Given the description of an element on the screen output the (x, y) to click on. 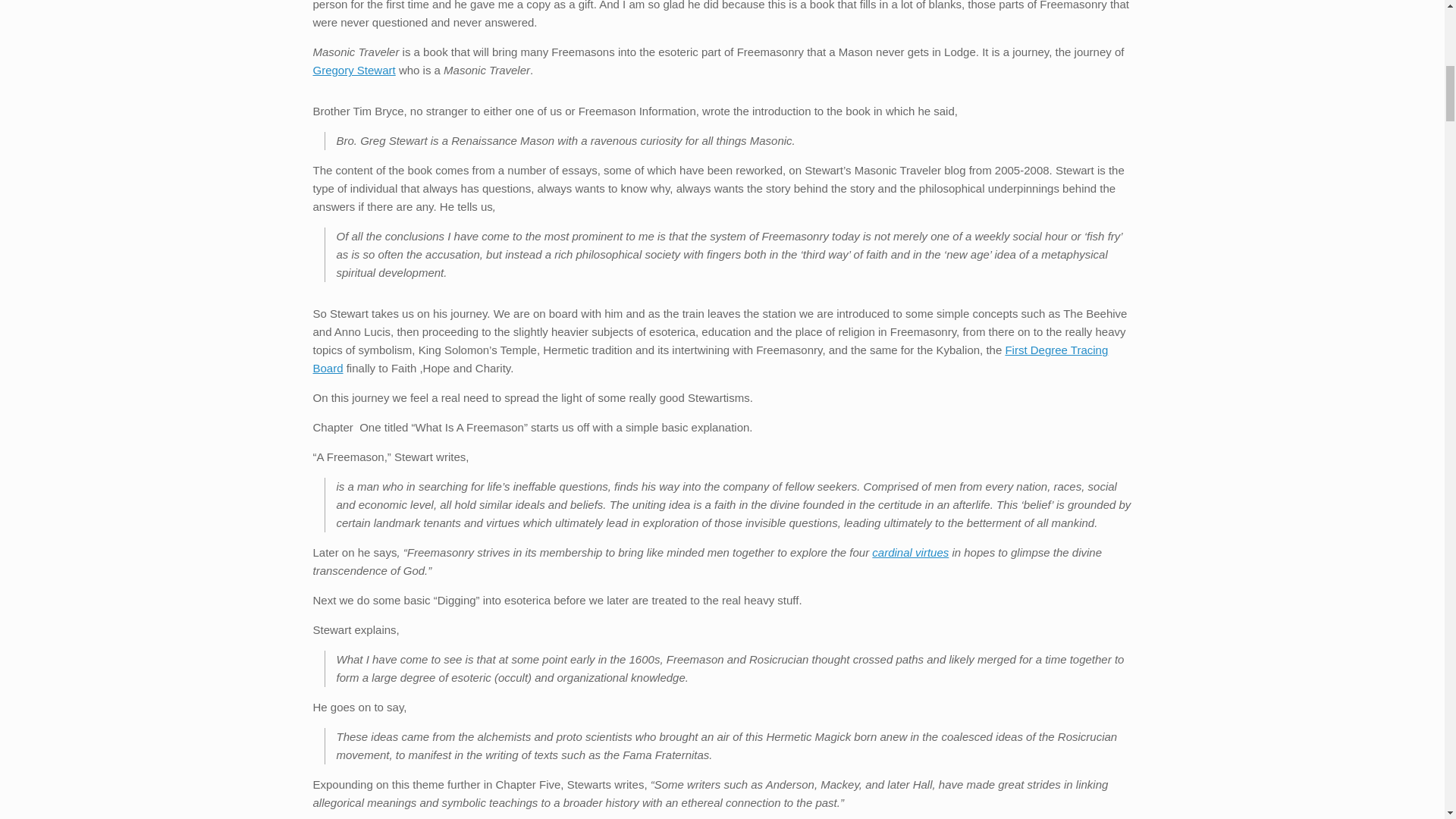
First Degree Tracing Board (710, 358)
Gregory Stewart (353, 69)
cardinal virtues (910, 552)
